Given the description of an element on the screen output the (x, y) to click on. 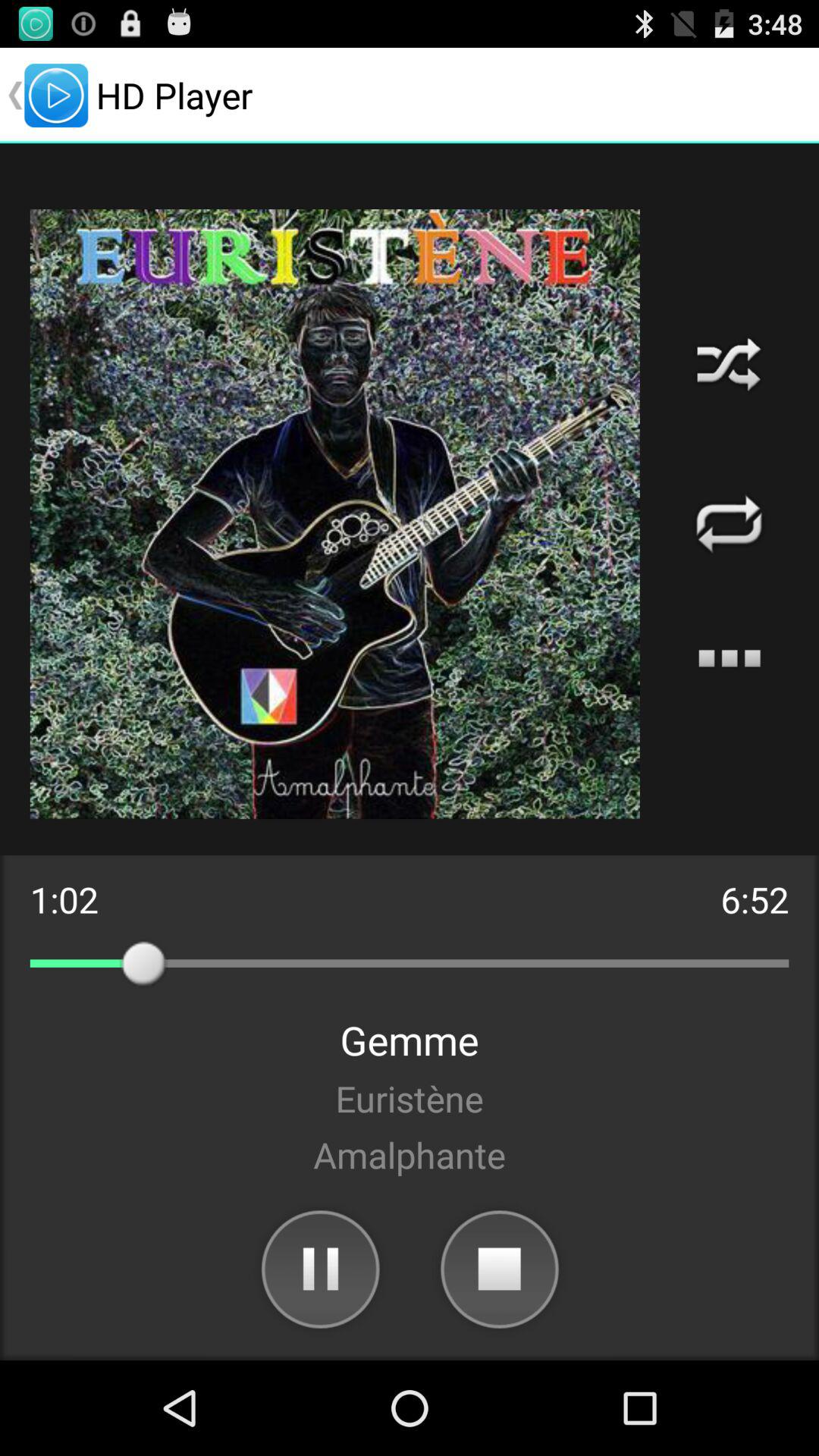
swipe to 1:02 item (64, 899)
